Given the description of an element on the screen output the (x, y) to click on. 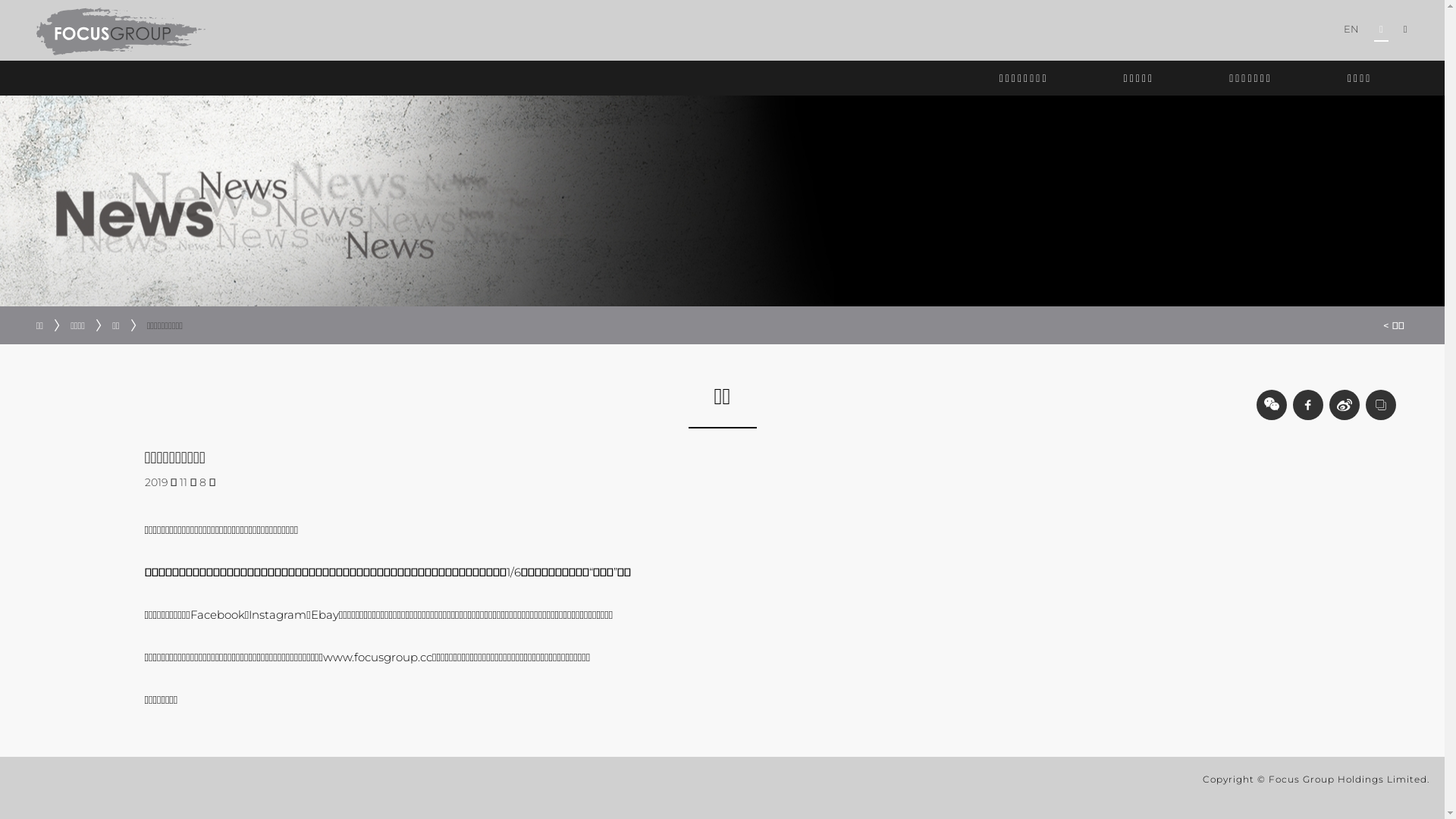
EN Element type: text (1351, 28)
